Given the description of an element on the screen output the (x, y) to click on. 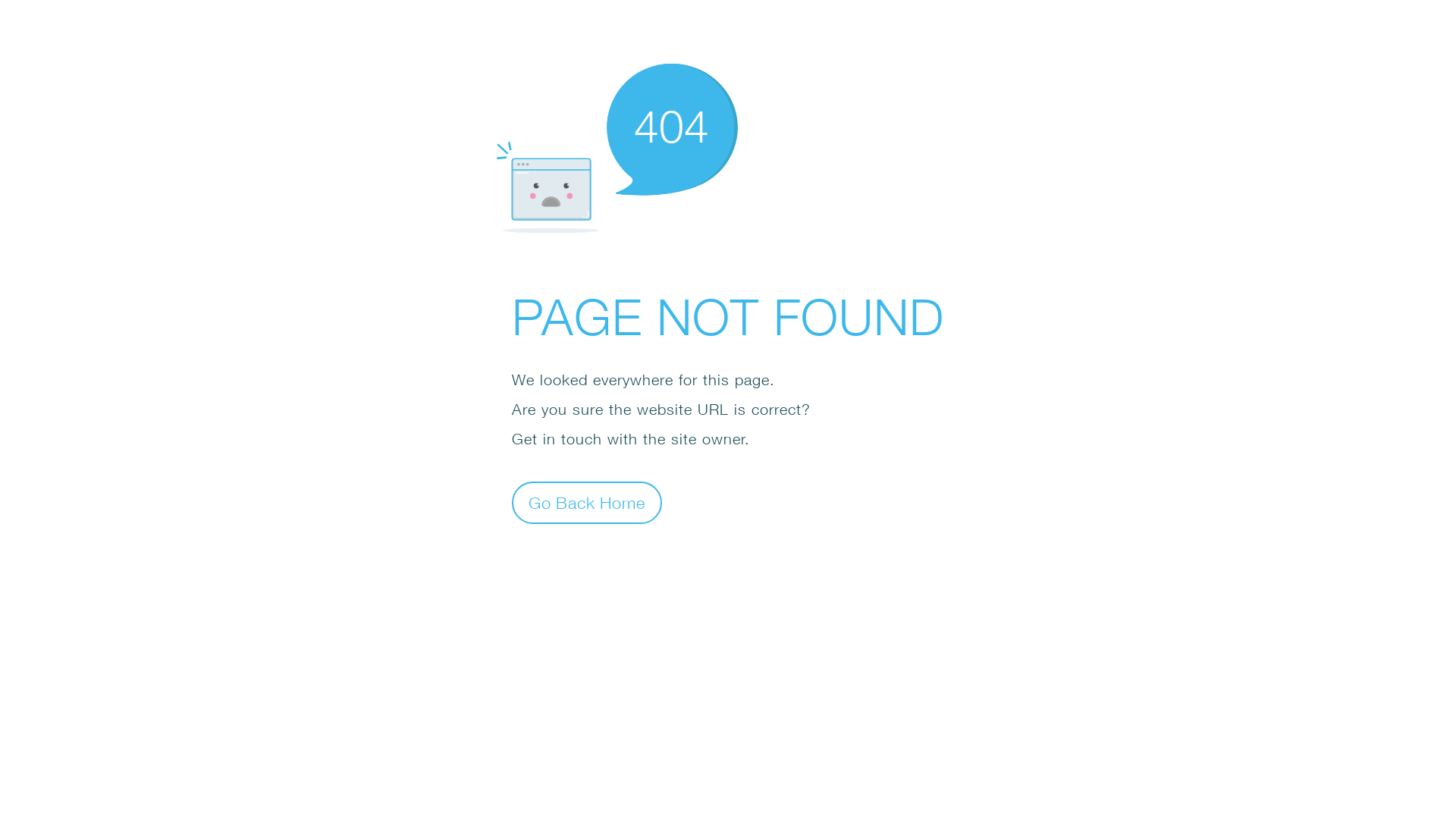
Go Back Home Element type: text (586, 502)
